Given the description of an element on the screen output the (x, y) to click on. 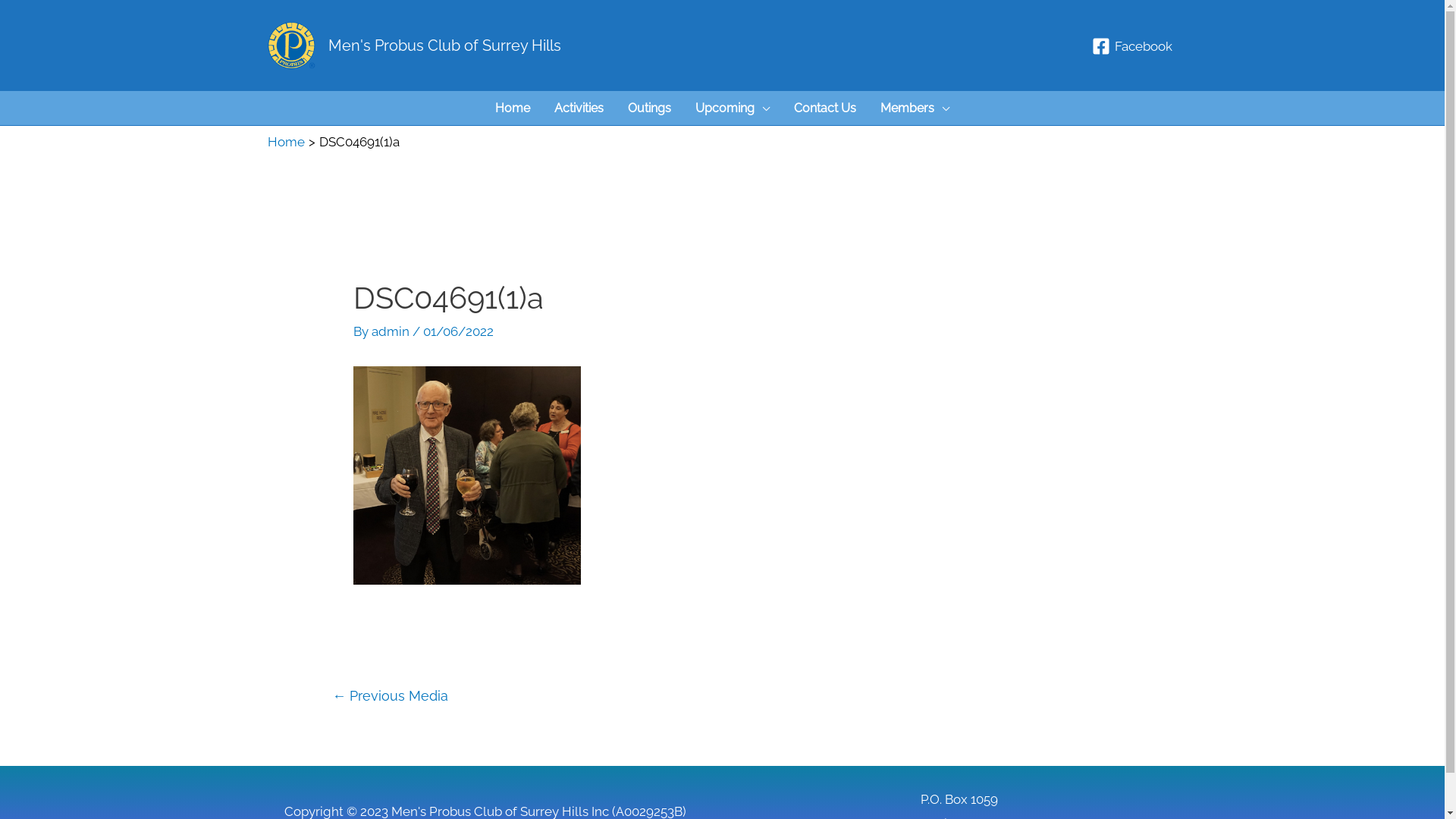
Upcoming Element type: text (732, 108)
Home Element type: text (285, 141)
Activities Element type: text (578, 108)
Outings Element type: text (649, 108)
admin Element type: text (391, 330)
Contact Us Element type: text (824, 108)
Home Element type: text (512, 108)
Men's Probus Club of Surrey Hills Element type: text (443, 45)
Facebook Element type: text (1131, 46)
Members Element type: text (914, 108)
